Given the description of an element on the screen output the (x, y) to click on. 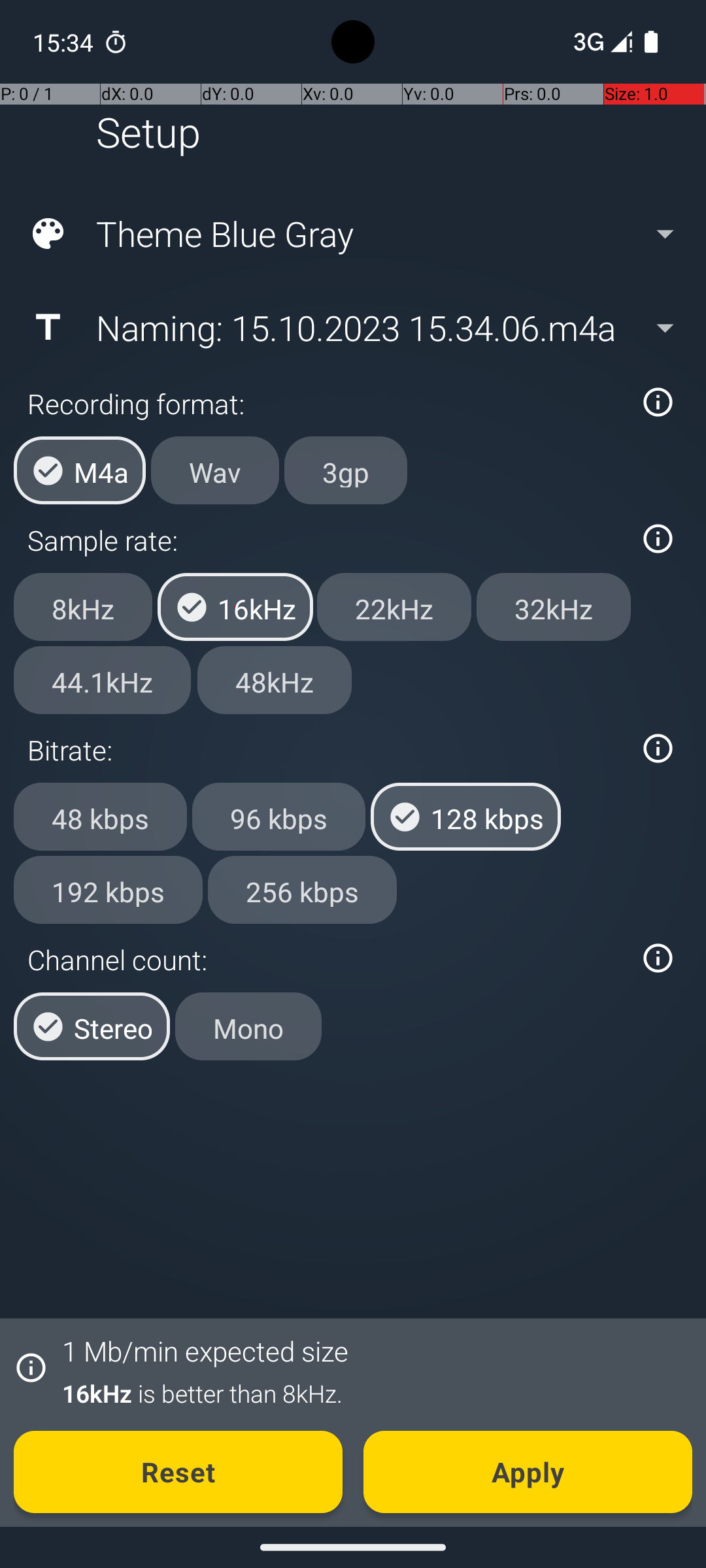
16kHz is better than 8kHz. Element type: android.widget.TextView (370, 1392)
Naming: 15.10.2023 15.34.06.m4a Element type: android.widget.TextView (352, 327)
